Given the description of an element on the screen output the (x, y) to click on. 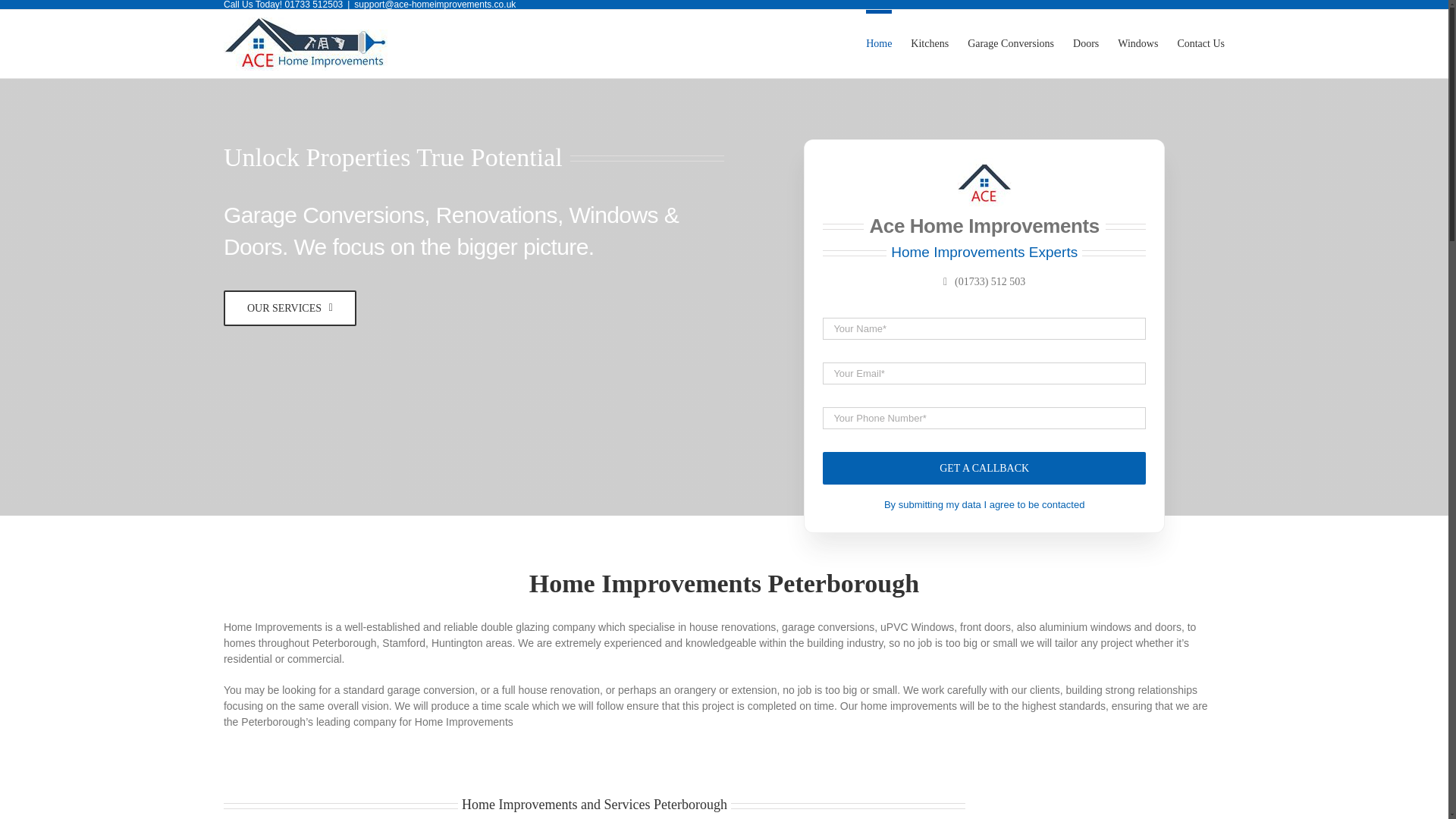
GET A CALLBACK (983, 468)
Garage Conversions Peterborough (1011, 41)
Garage Conversions (1011, 41)
OUR SERVICES (290, 307)
GET A CALLBACK (983, 400)
